Given the description of an element on the screen output the (x, y) to click on. 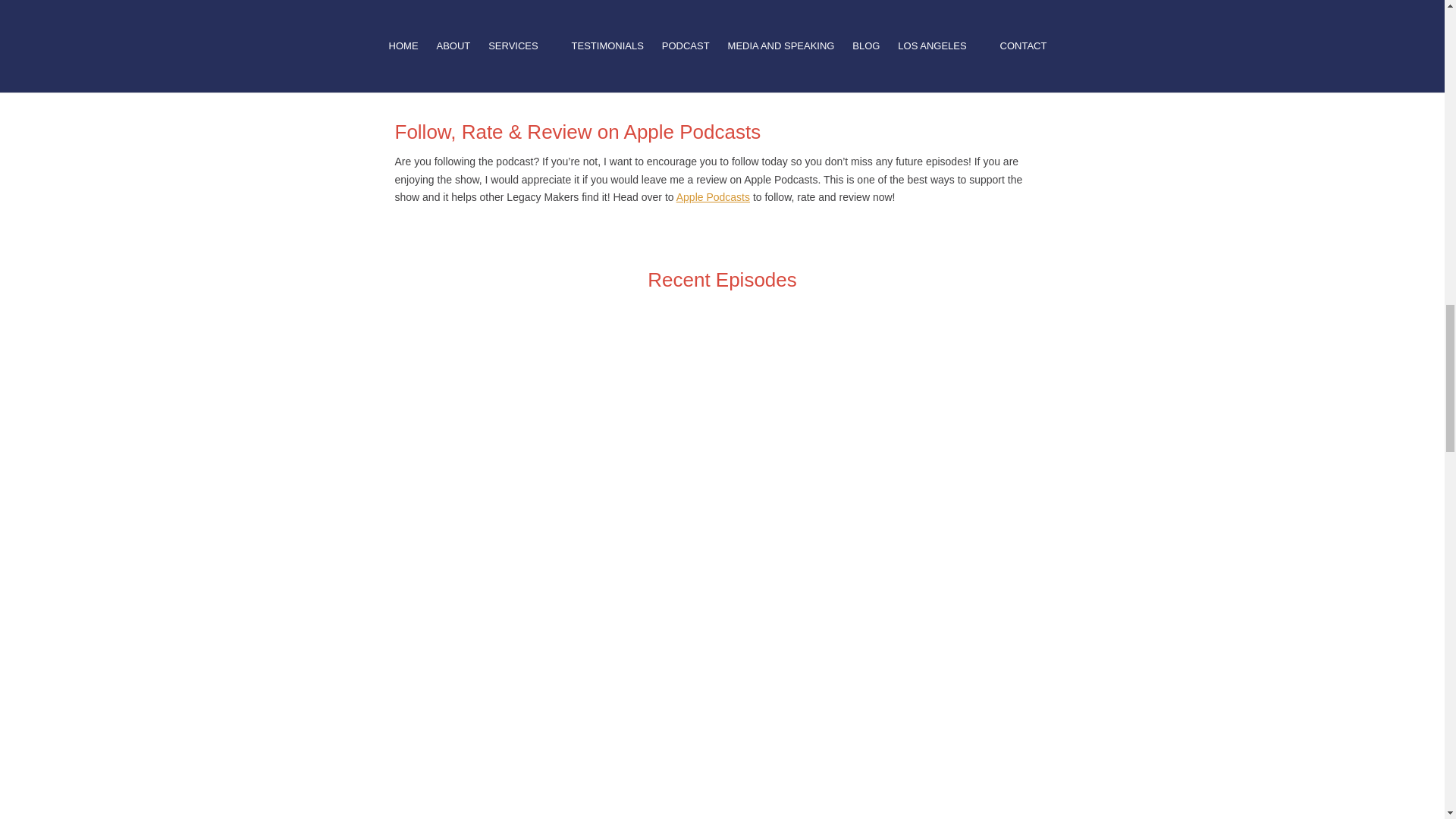
Connect With Me on LinkedIn (464, 52)
Follow Me on Instagram (450, 34)
Follow Me on Facebook (450, 16)
Check out our other podcasts for Women of Color (510, 70)
Follow the Podcast (438, 2)
Apple Podcasts (713, 196)
